Given the description of an element on the screen output the (x, y) to click on. 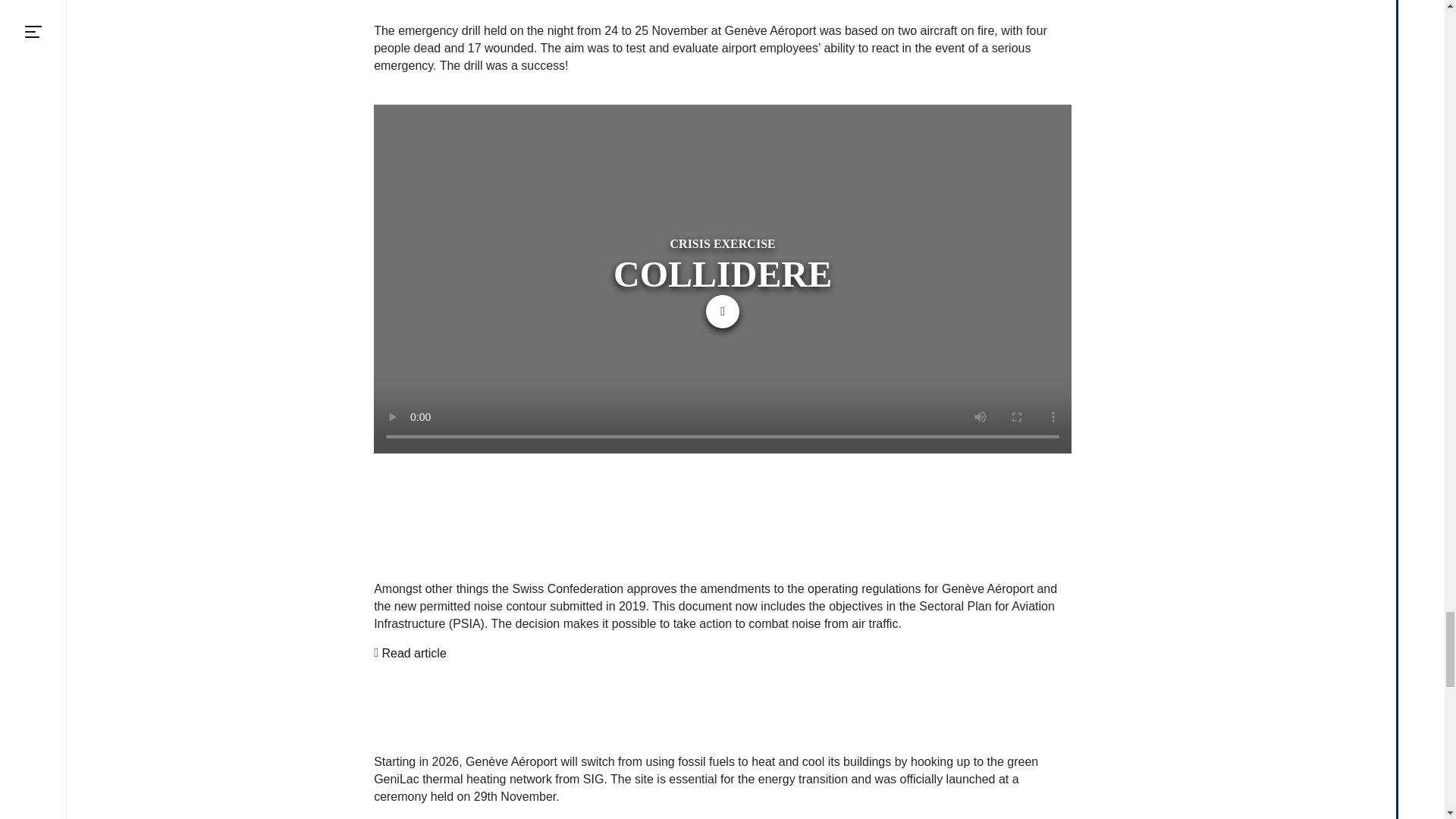
Read article (413, 652)
